Given the description of an element on the screen output the (x, y) to click on. 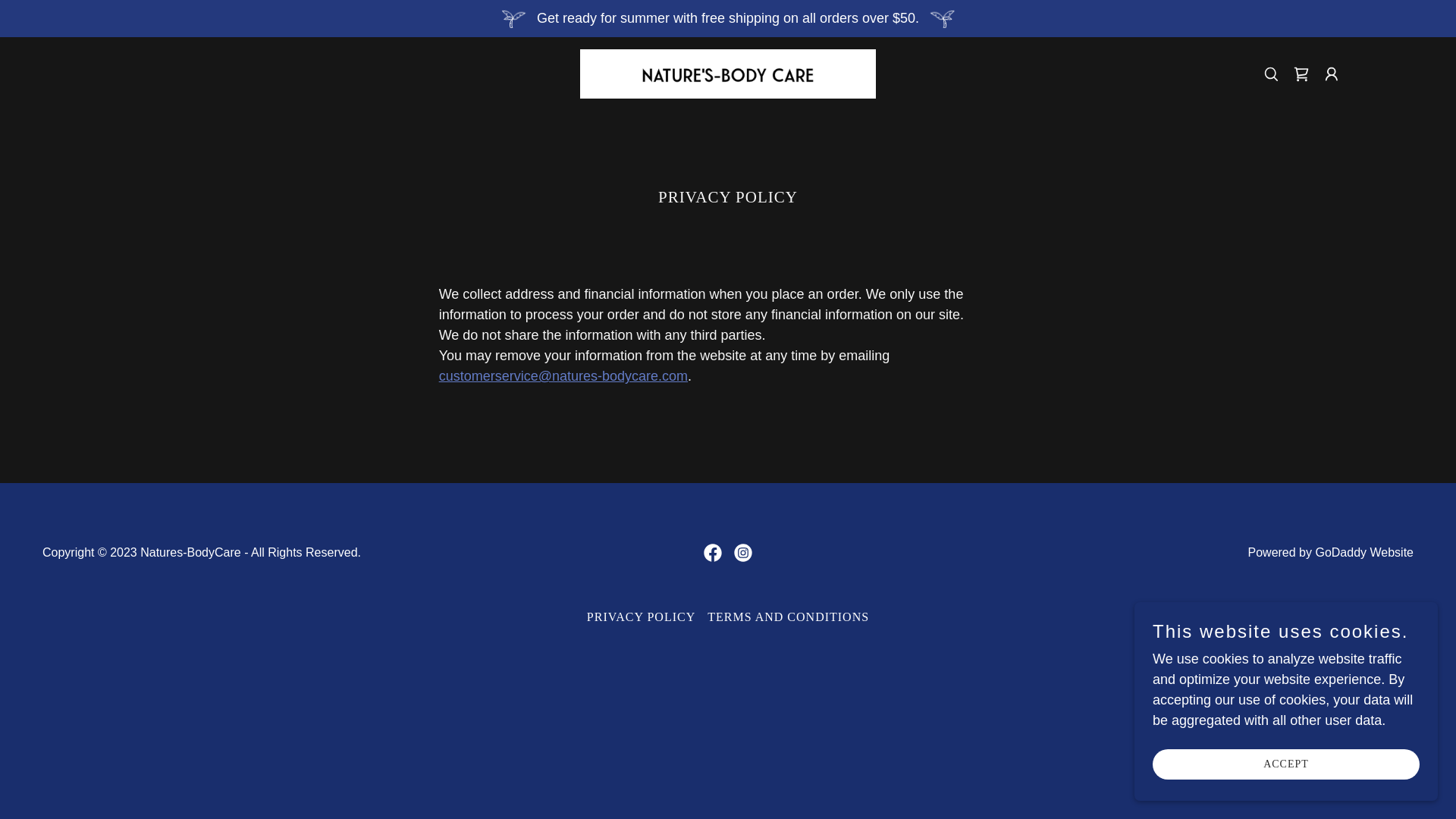
TERMS AND CONDITIONS (788, 616)
GoDaddy (1340, 552)
Nature's-BodyCare (727, 72)
PRIVACY POLICY (640, 616)
ACCEPT (1286, 764)
